Given the description of an element on the screen output the (x, y) to click on. 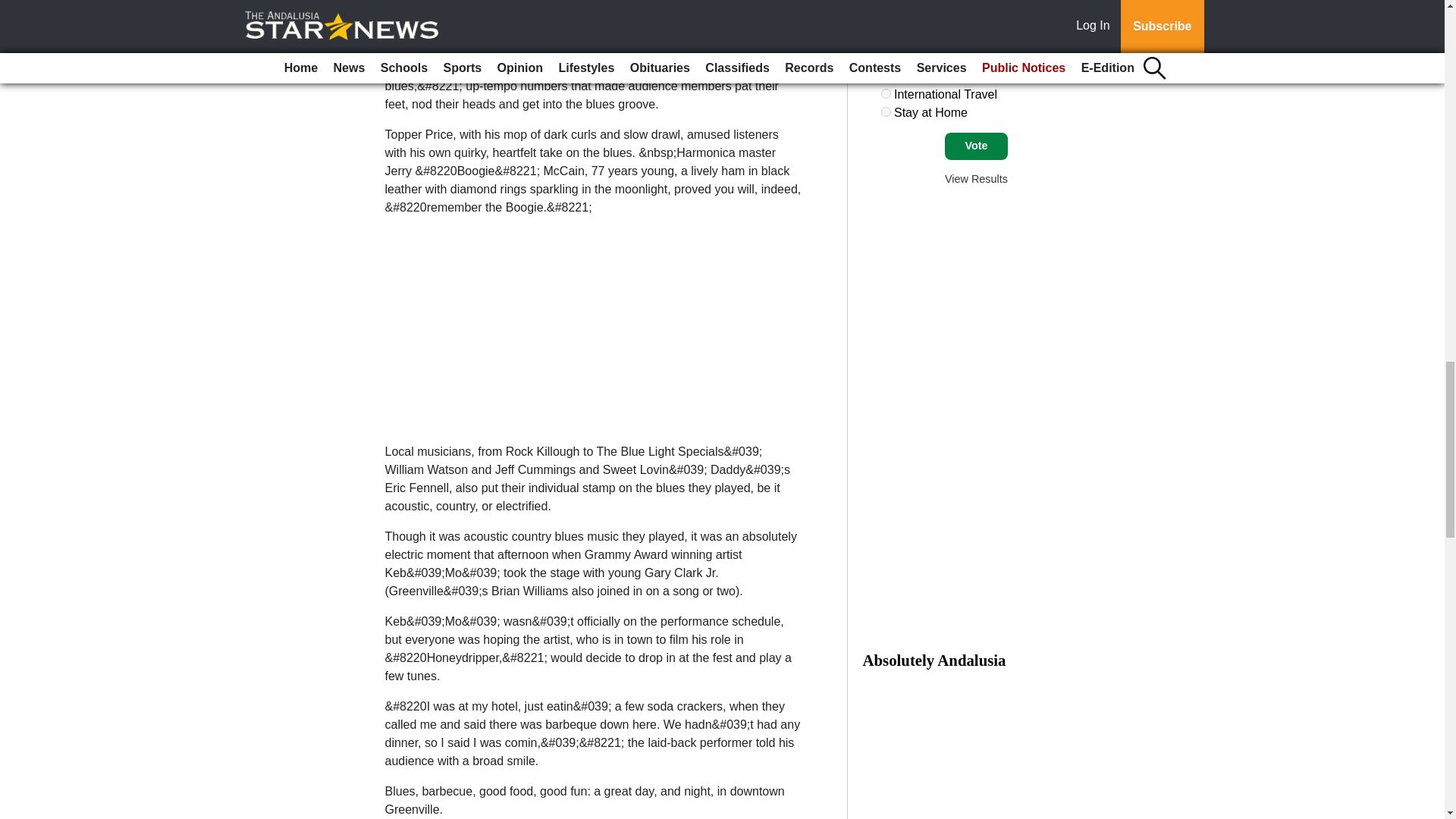
745 (885, 39)
748 (885, 93)
   Vote    (975, 145)
746 (885, 57)
View Results Of This Poll (975, 178)
View Results (975, 178)
749 (885, 112)
744 (885, 20)
747 (885, 75)
